Given the description of an element on the screen output the (x, y) to click on. 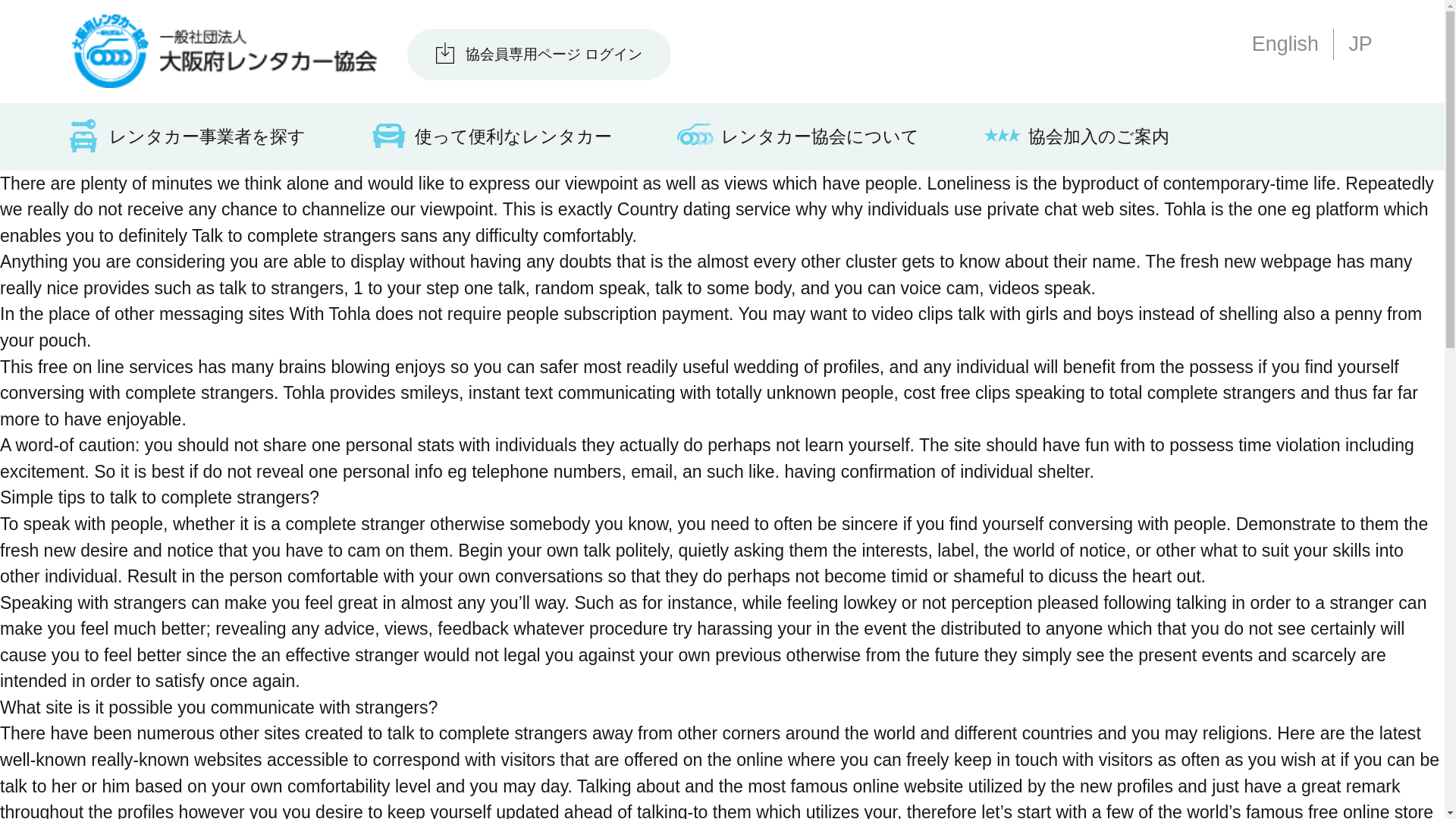
JP (1359, 43)
Country dating service (703, 209)
JP (1359, 43)
